Given the description of an element on the screen output the (x, y) to click on. 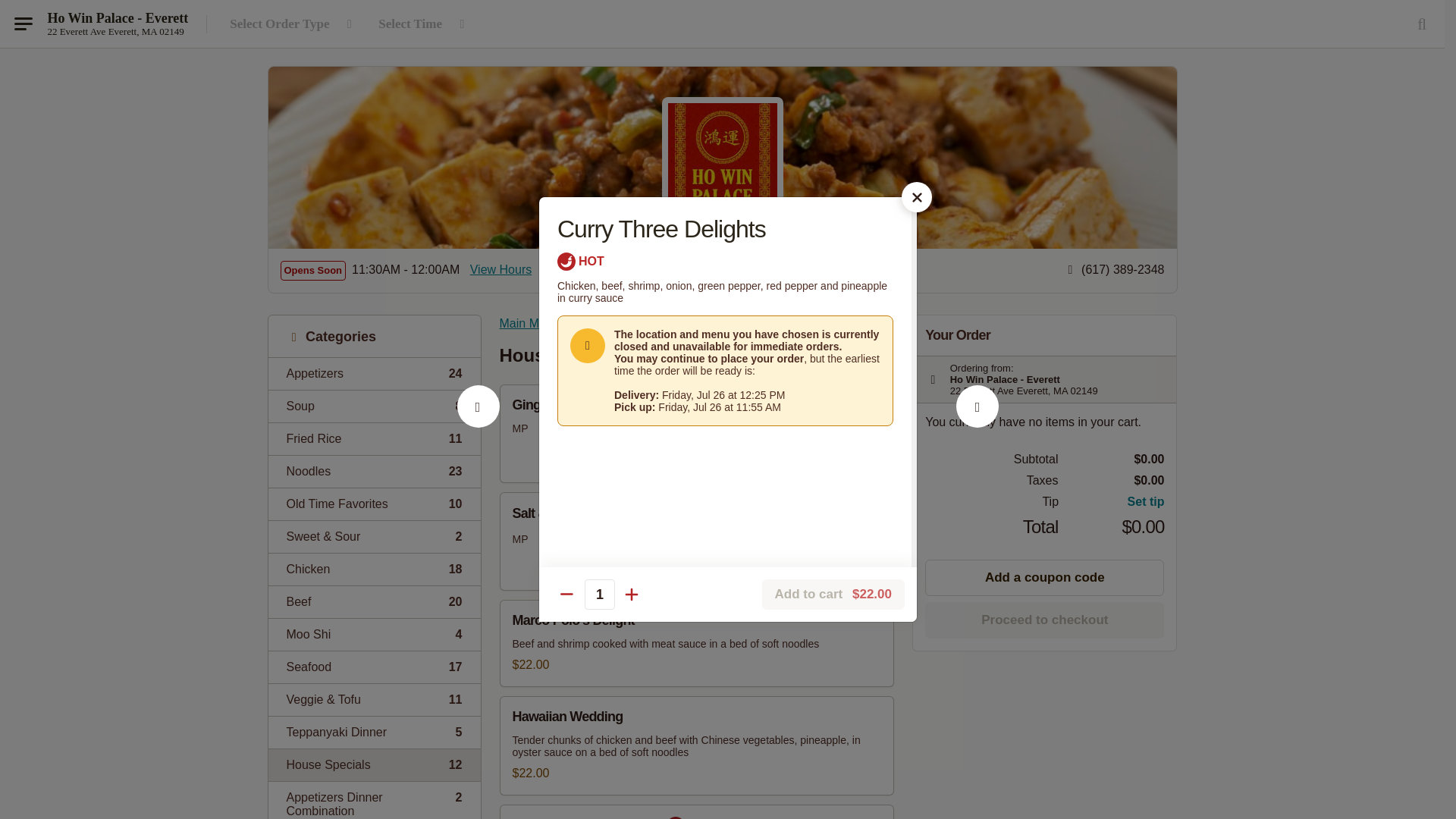
Add tip (1112, 501)
View Hours (373, 405)
22 Everett Ave Everett, MA 02149 (373, 601)
Proceed to checkout (373, 438)
Ho Win Palace - Everett (501, 270)
Kung Pao Three Delights (114, 31)
Select Time (373, 503)
